Given the description of an element on the screen output the (x, y) to click on. 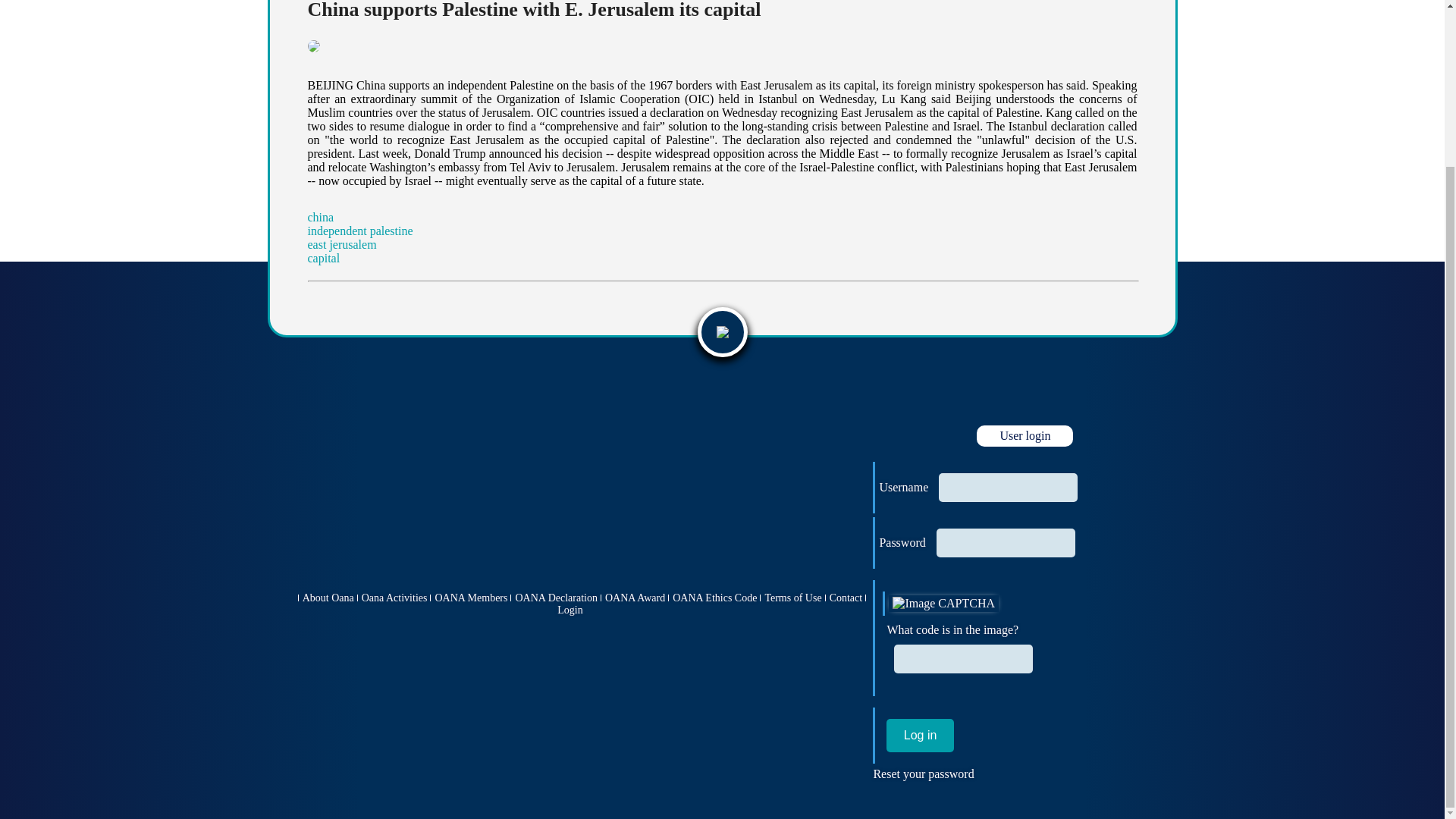
Send password reset instructions via email. (923, 773)
Image CAPTCHA (943, 603)
Log in (919, 735)
